Given the description of an element on the screen output the (x, y) to click on. 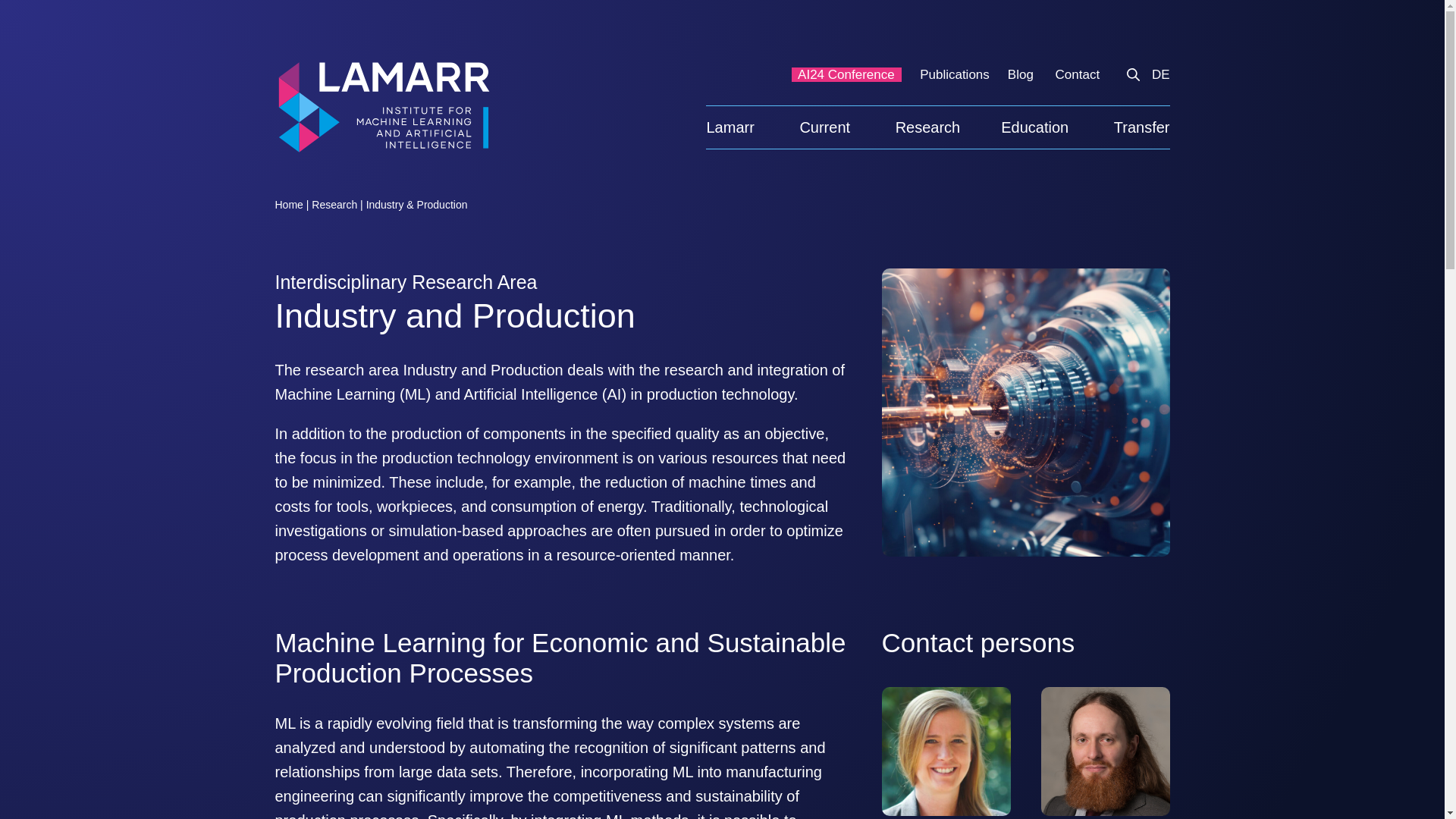
DE (1156, 74)
Finkeldey, Felix 4 (1105, 751)
DE (1156, 74)
Publications (954, 74)
Contact  (1079, 74)
Search (1133, 73)
  AI24 Conference   (847, 74)
Wiederkehr, Petra 2 (945, 751)
Lamarr Institute (382, 106)
Blog  (1022, 74)
Lamarr  (742, 127)
